Given the description of an element on the screen output the (x, y) to click on. 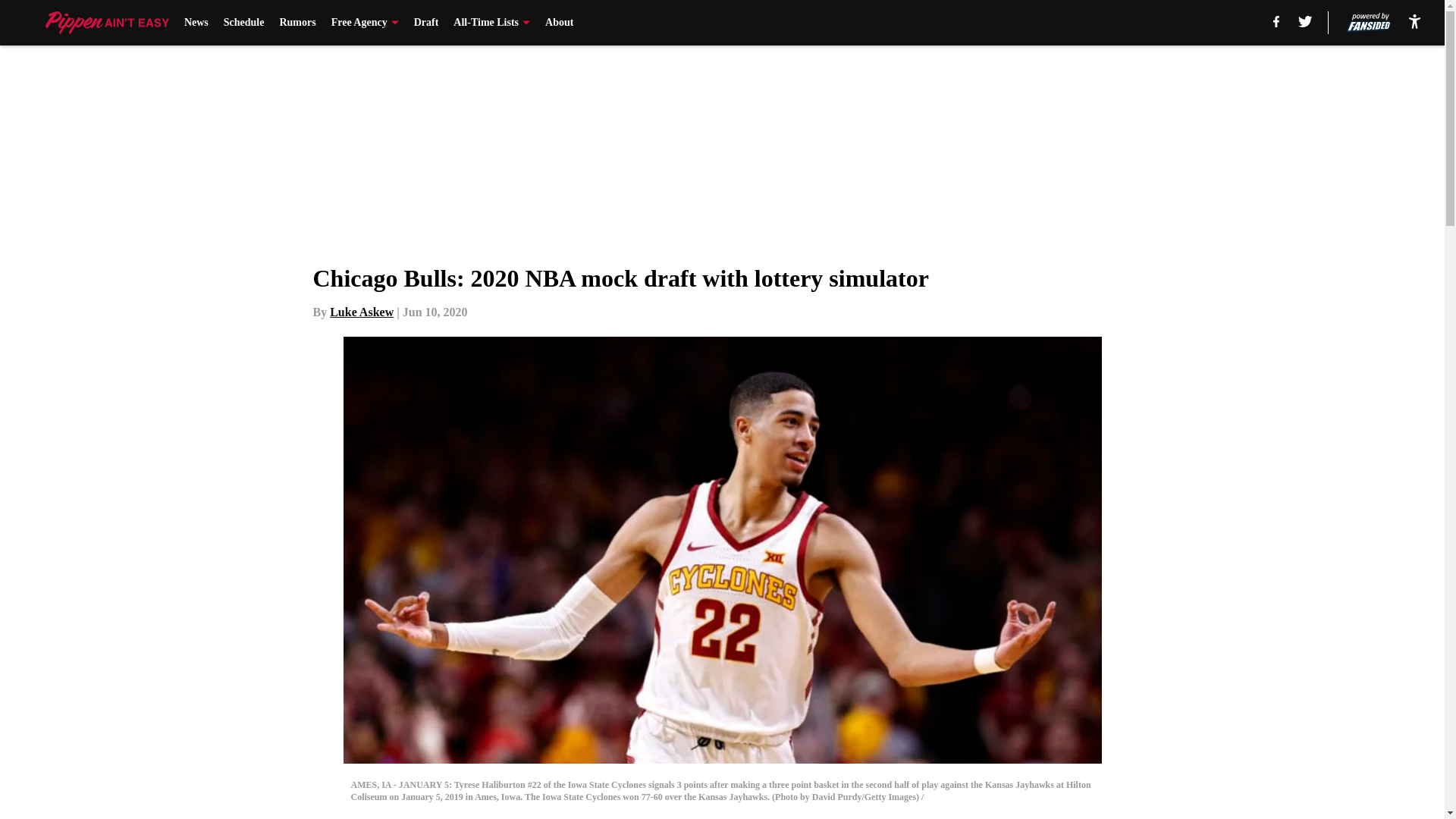
Schedule (244, 22)
Free Agency (364, 22)
About (558, 22)
Luke Askew (361, 311)
Draft (426, 22)
Rumors (297, 22)
All-Time Lists (490, 22)
News (196, 22)
